Given the description of an element on the screen output the (x, y) to click on. 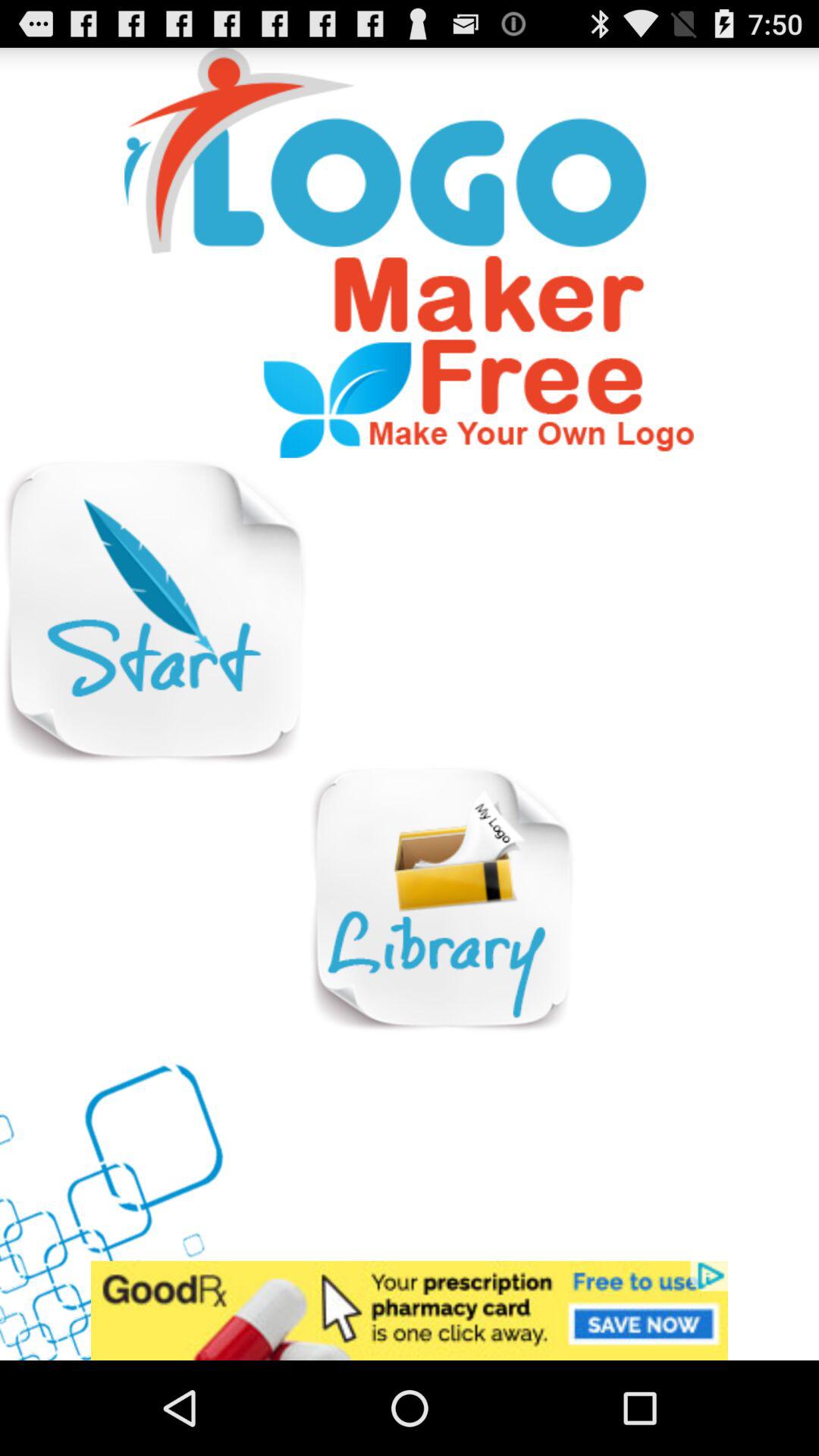
open advertisement (409, 1310)
